Given the description of an element on the screen output the (x, y) to click on. 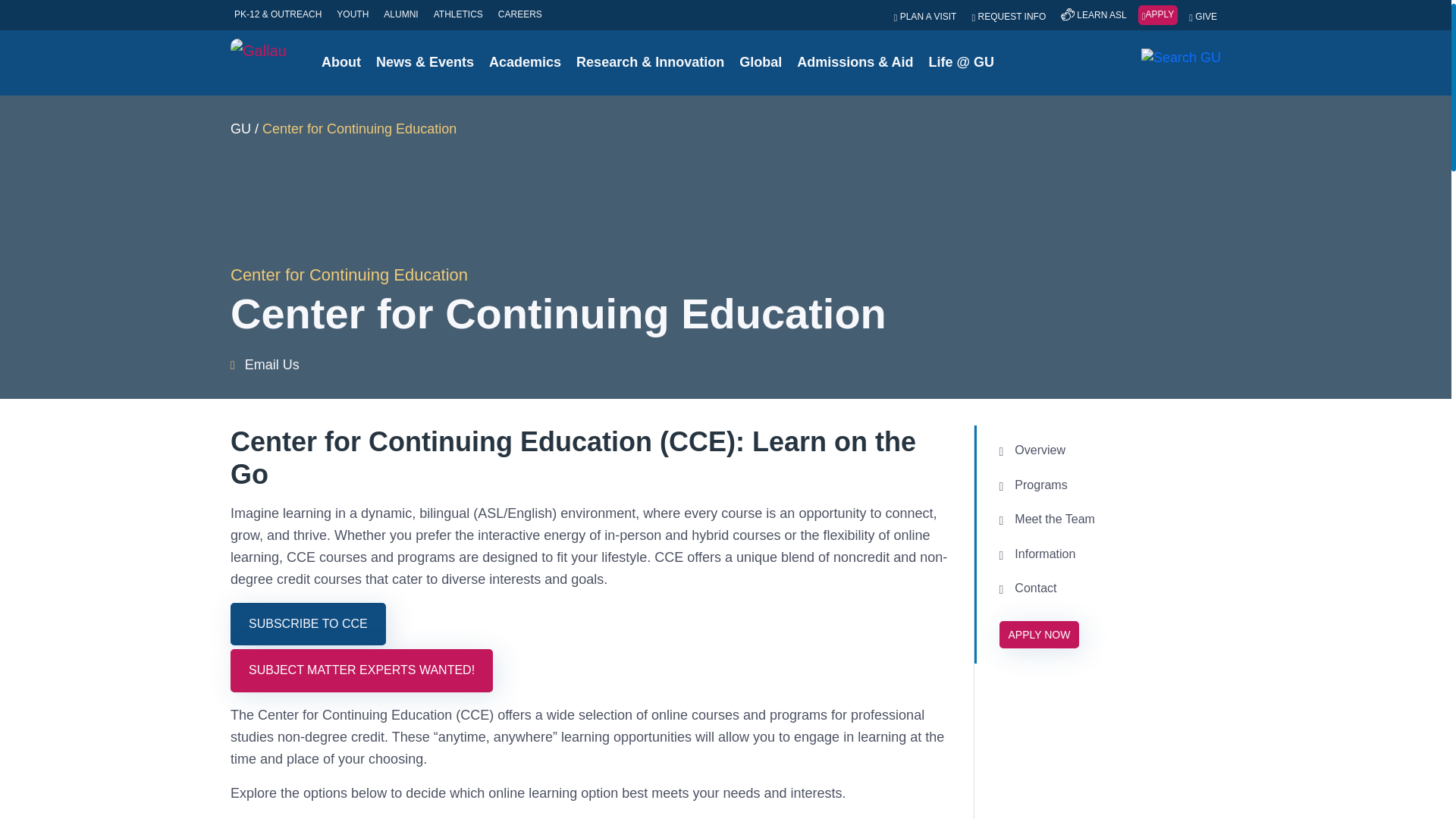
Information (1105, 554)
ATHLETICS (457, 14)
Meet the Team (1105, 519)
Programs (1105, 484)
Contact (1105, 588)
YOUTH (352, 14)
ALUMNI (401, 14)
Overview (1105, 450)
